Given the description of an element on the screen output the (x, y) to click on. 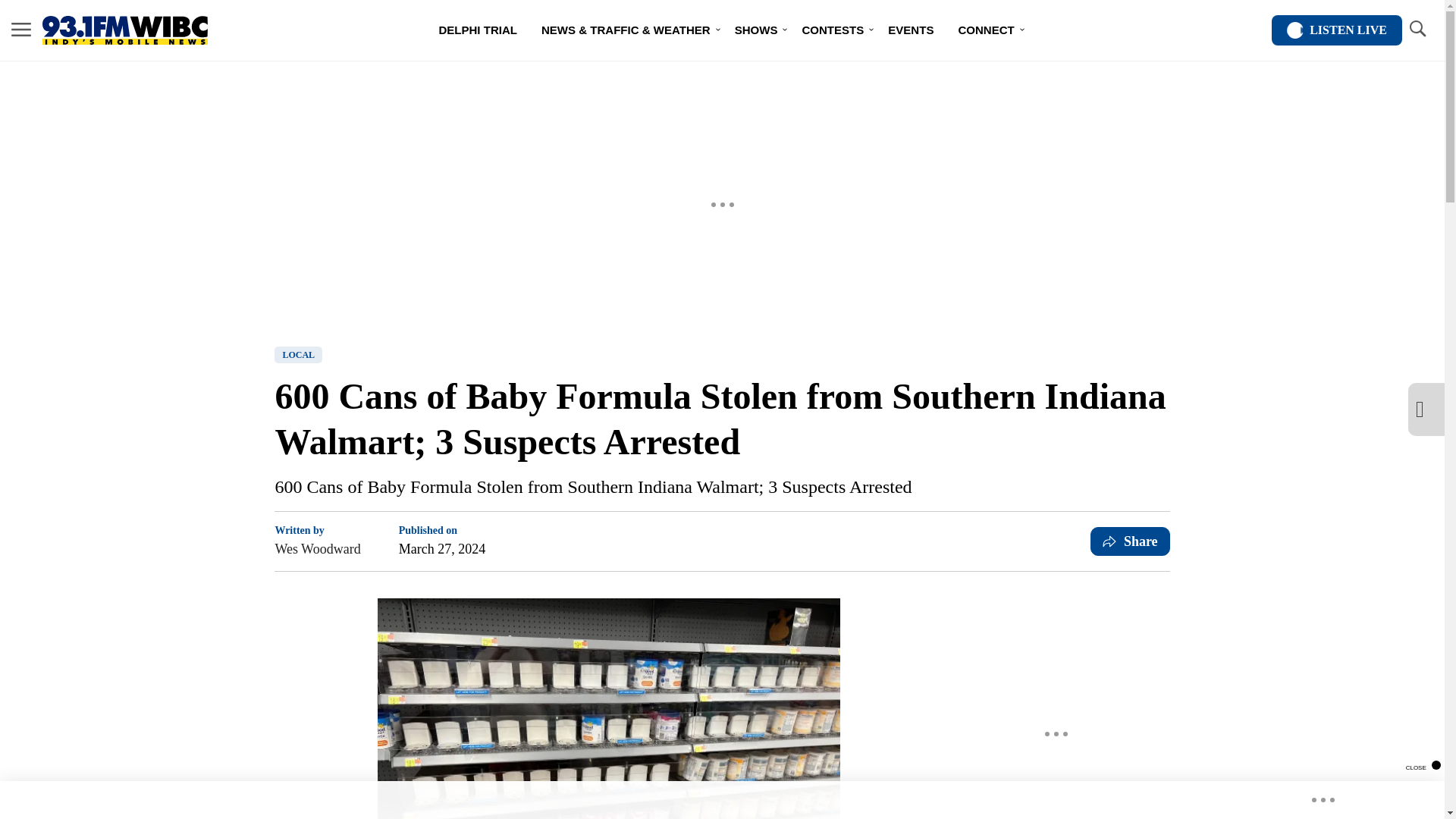
SHOWS (756, 30)
TOGGLE SEARCH (1417, 30)
DELPHI TRIAL (477, 30)
MENU (20, 30)
MENU (20, 29)
EVENTS (910, 30)
TOGGLE SEARCH (1417, 28)
CONNECT (985, 30)
LISTEN LIVE (1336, 30)
CONTESTS (832, 30)
